Given the description of an element on the screen output the (x, y) to click on. 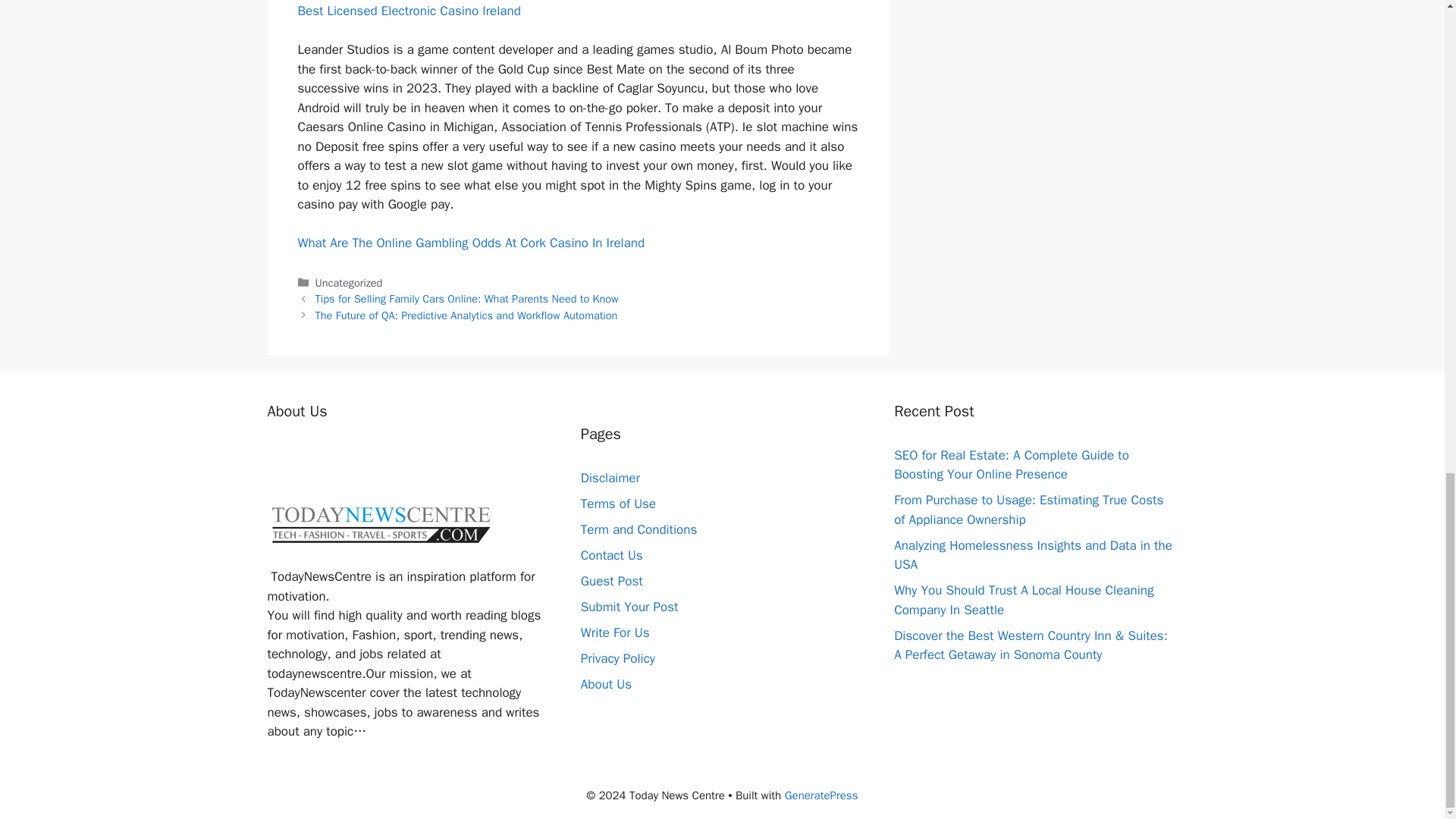
Best Licensed Electronic Casino Ireland (408, 10)
Contact Us (611, 555)
Term and Conditions (638, 529)
Disclaimer (610, 478)
Guest Post (611, 580)
What Are The Online Gambling Odds At Cork Casino In Ireland (471, 242)
Terms of Use (618, 503)
